Given the description of an element on the screen output the (x, y) to click on. 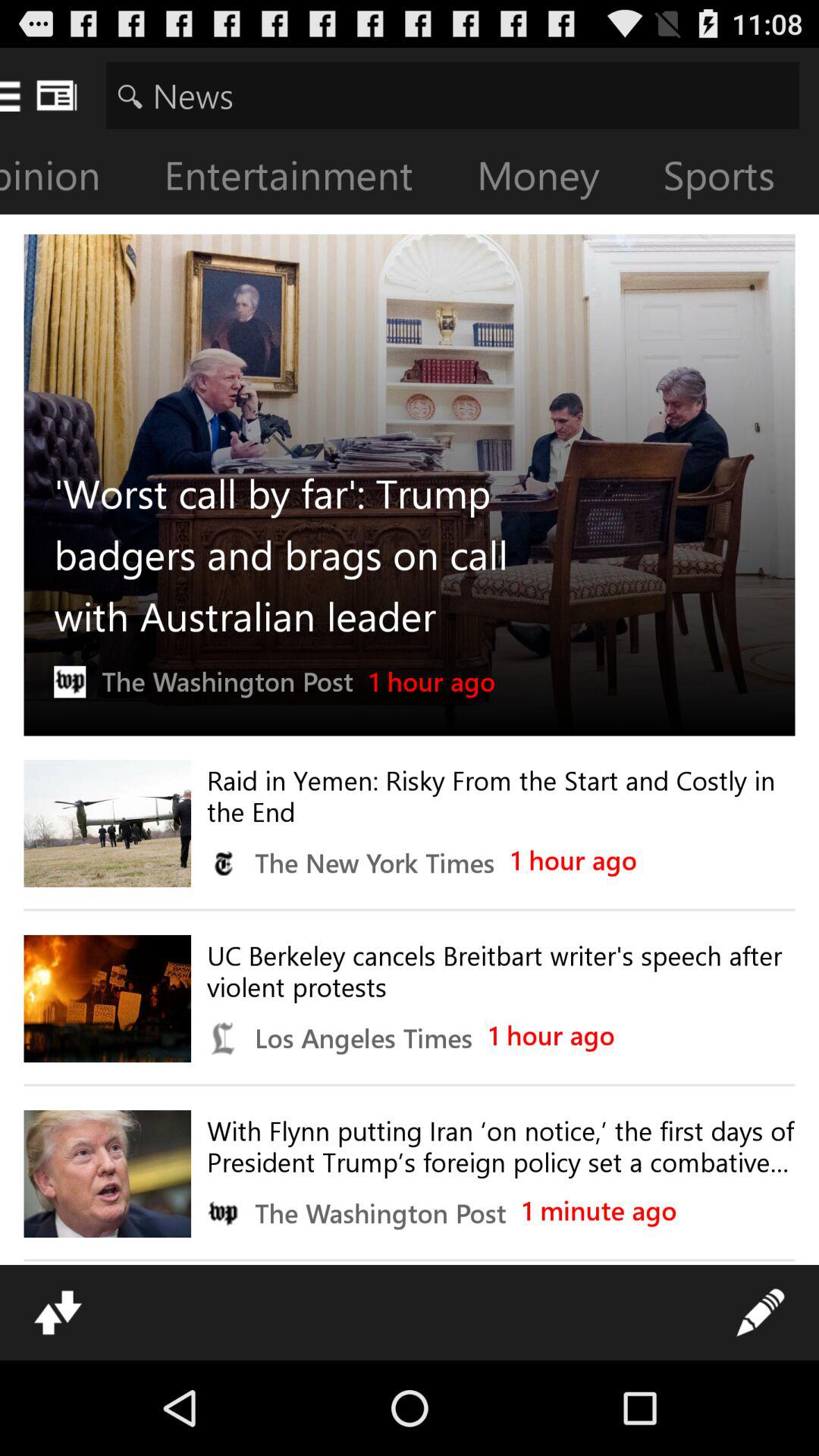
turn on icon to the right of the opinion icon (300, 178)
